Given the description of an element on the screen output the (x, y) to click on. 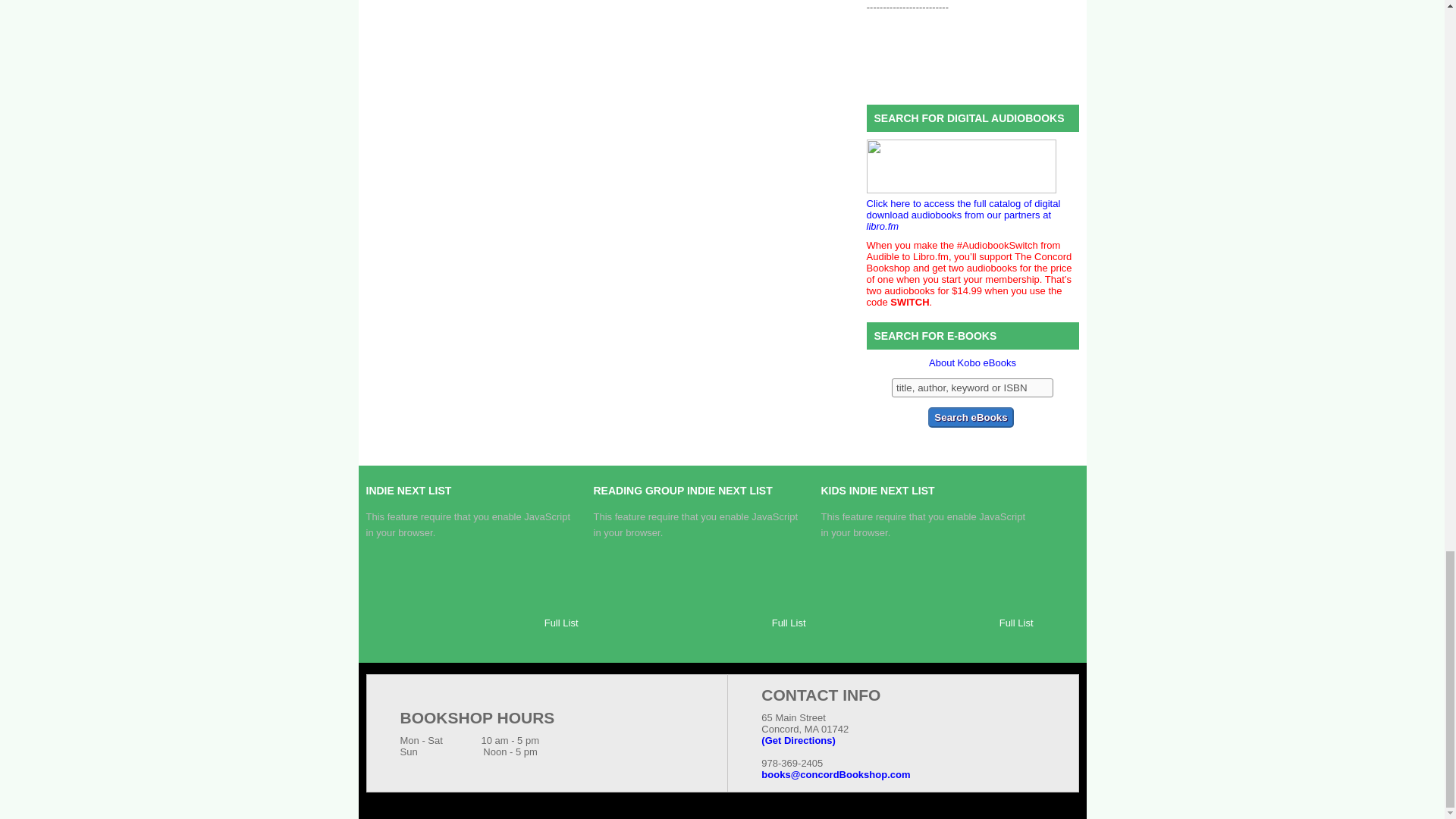
Enter title, author, keyword or ISBN. (971, 387)
Search eBooks (970, 417)
title, author, keyword or ISBN (971, 387)
